Given the description of an element on the screen output the (x, y) to click on. 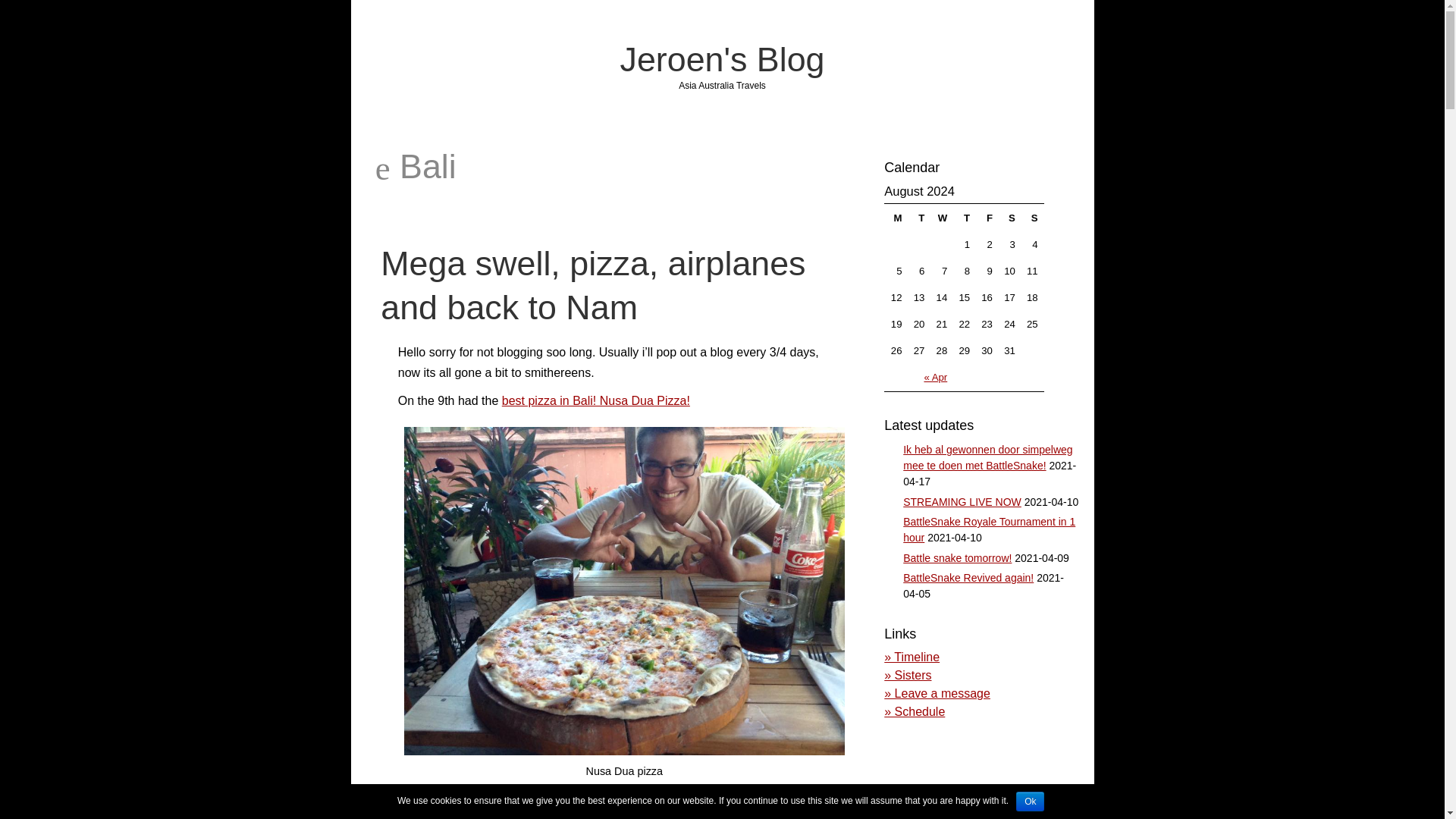
best pizza in Bali! Nusa Dua Pizza! (596, 400)
Jeroen's Blog (722, 58)
Mega swell, pizza, airplanes and back to Nam (592, 284)
mega swell footage (774, 797)
